Given the description of an element on the screen output the (x, y) to click on. 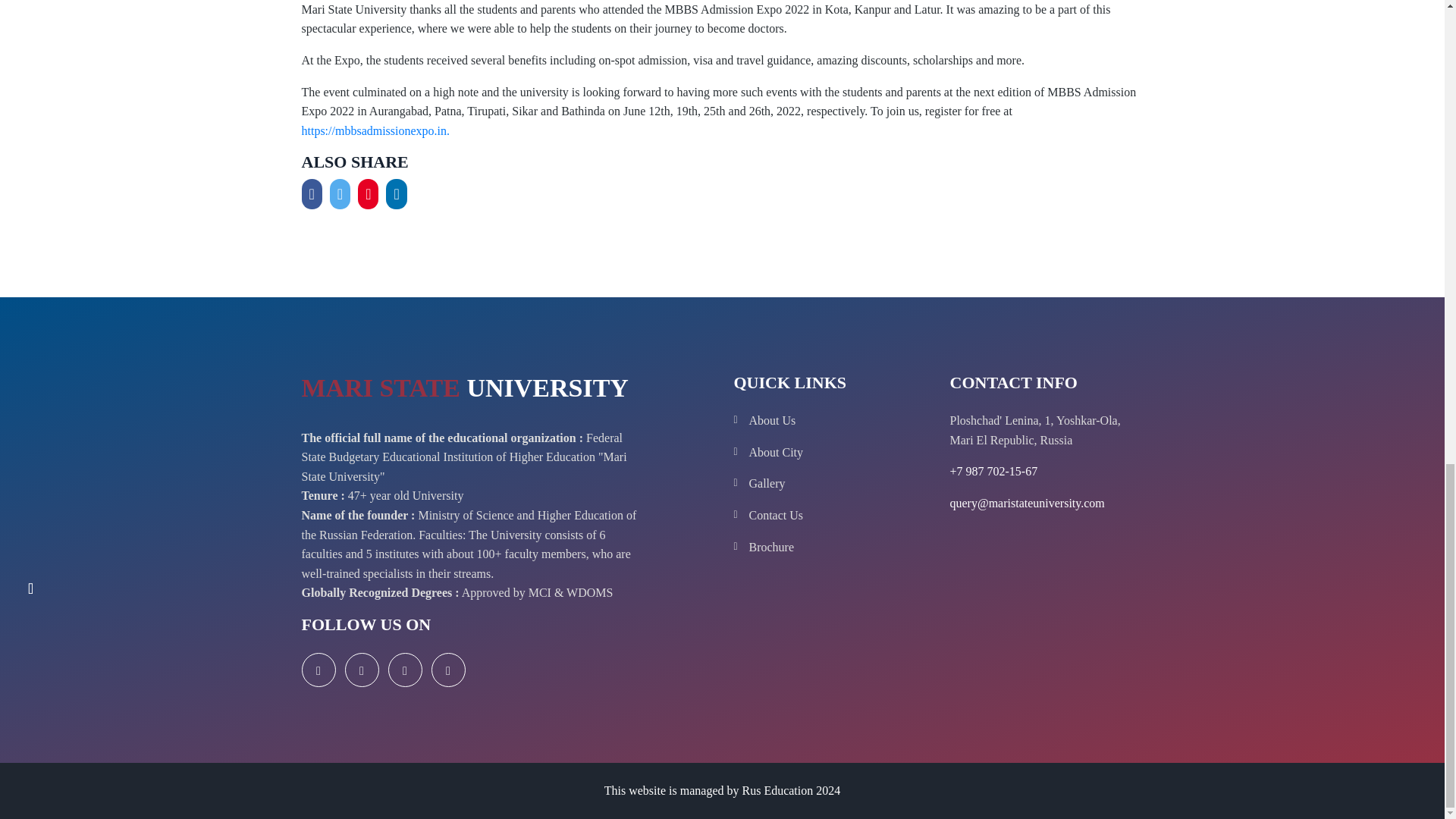
Contact Us (838, 515)
Brochure (838, 547)
Gallery (838, 483)
About City (838, 452)
MARI STATE UNIVERSITY (464, 391)
About Us (838, 420)
